Given the description of an element on the screen output the (x, y) to click on. 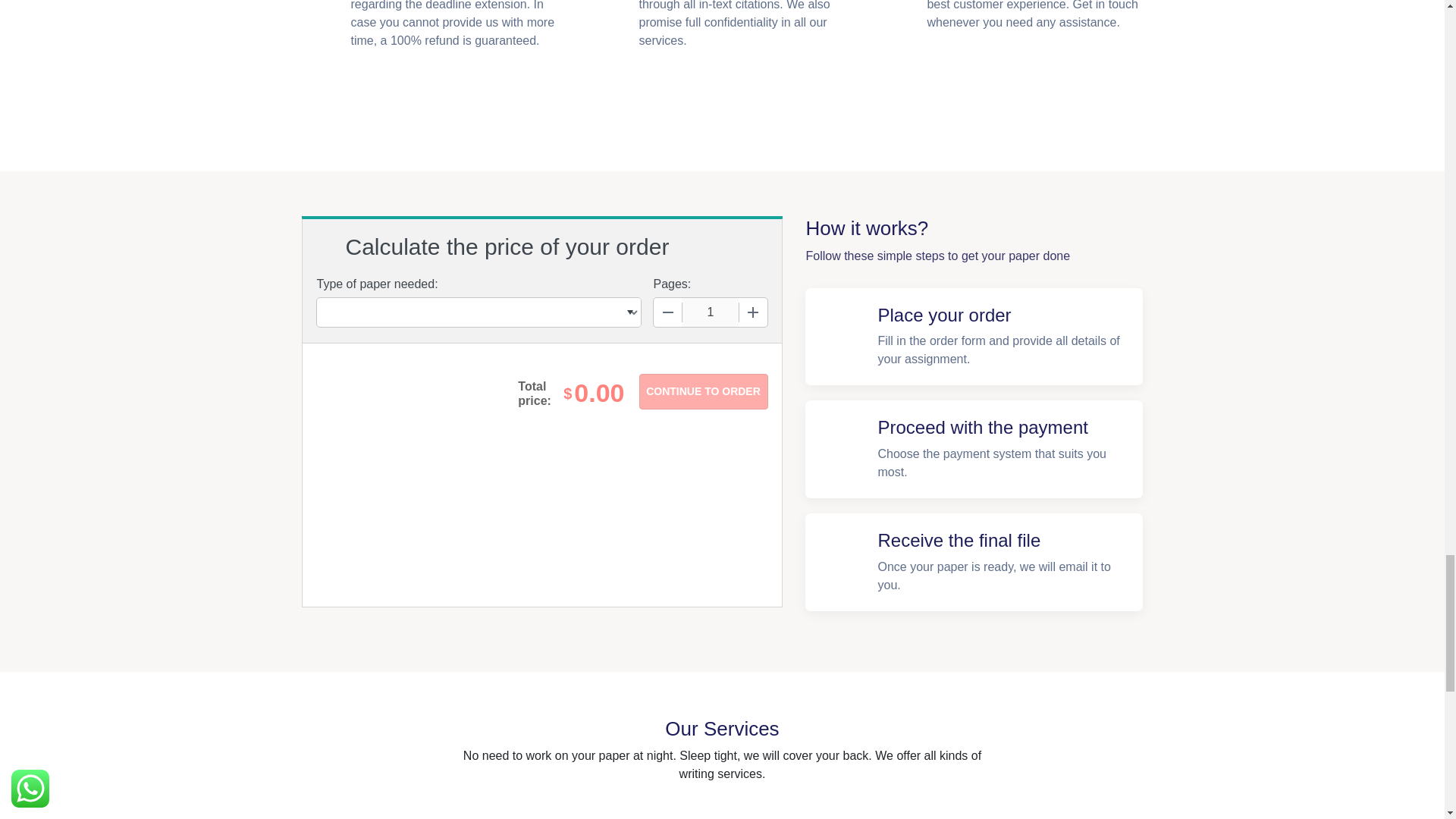
1 (710, 312)
Decrease (667, 312)
Continue to order (703, 391)
Continue to order (703, 391)
